Given the description of an element on the screen output the (x, y) to click on. 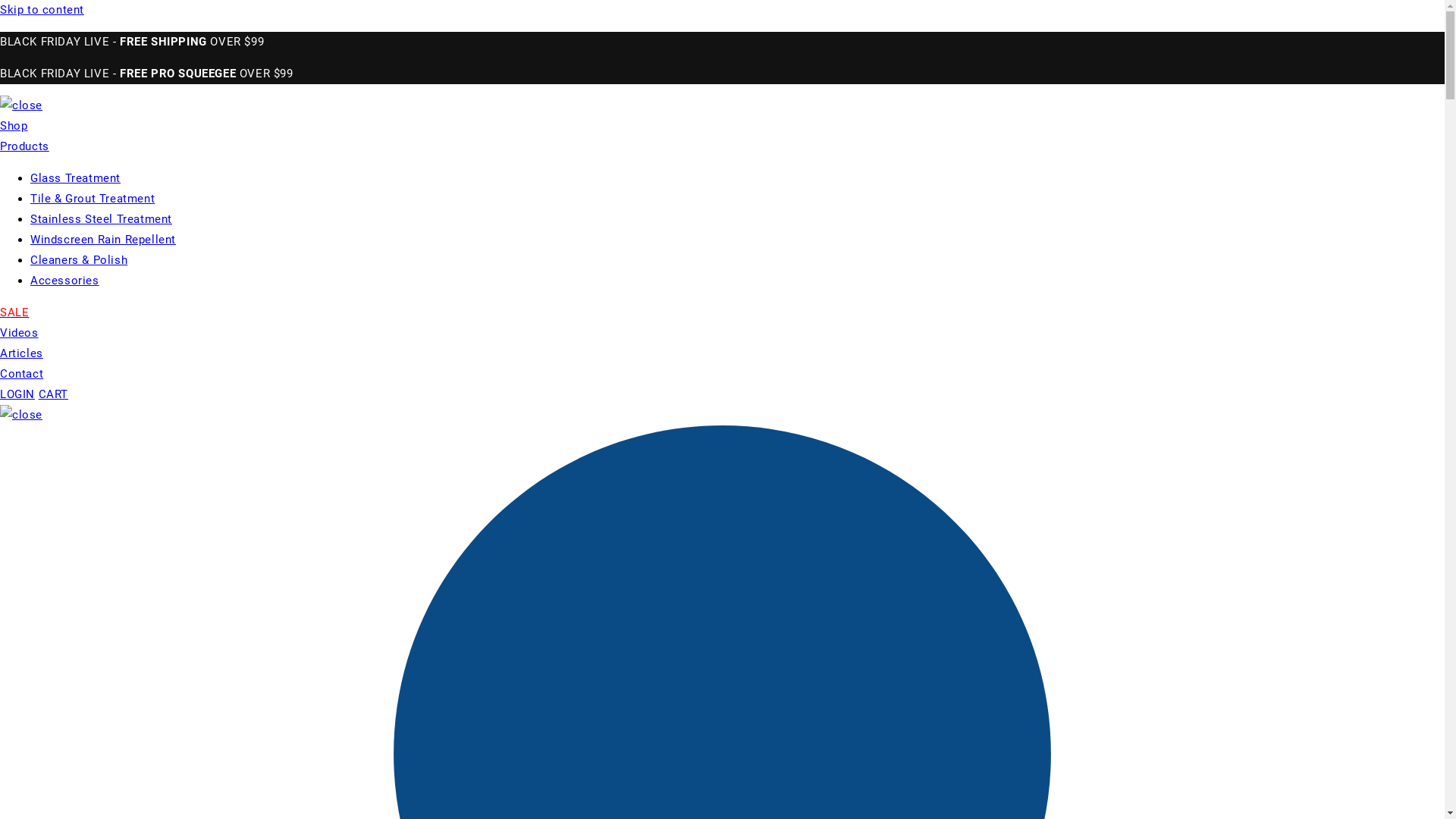
Videos Element type: text (19, 332)
Stainless Steel Treatment Element type: text (101, 218)
Cleaners & Polish Element type: text (78, 259)
Windscreen Rain Repellent Element type: text (102, 239)
CART Element type: text (53, 394)
Glass Treatment Element type: text (75, 178)
SALE Element type: text (14, 312)
LOGIN Element type: text (17, 394)
Shop Element type: text (13, 125)
Articles Element type: text (21, 353)
Skip to content Element type: text (722, 10)
Tile & Grout Treatment Element type: text (92, 198)
Accessories Element type: text (64, 280)
Contact Element type: text (21, 373)
Products Element type: text (24, 146)
